Given the description of an element on the screen output the (x, y) to click on. 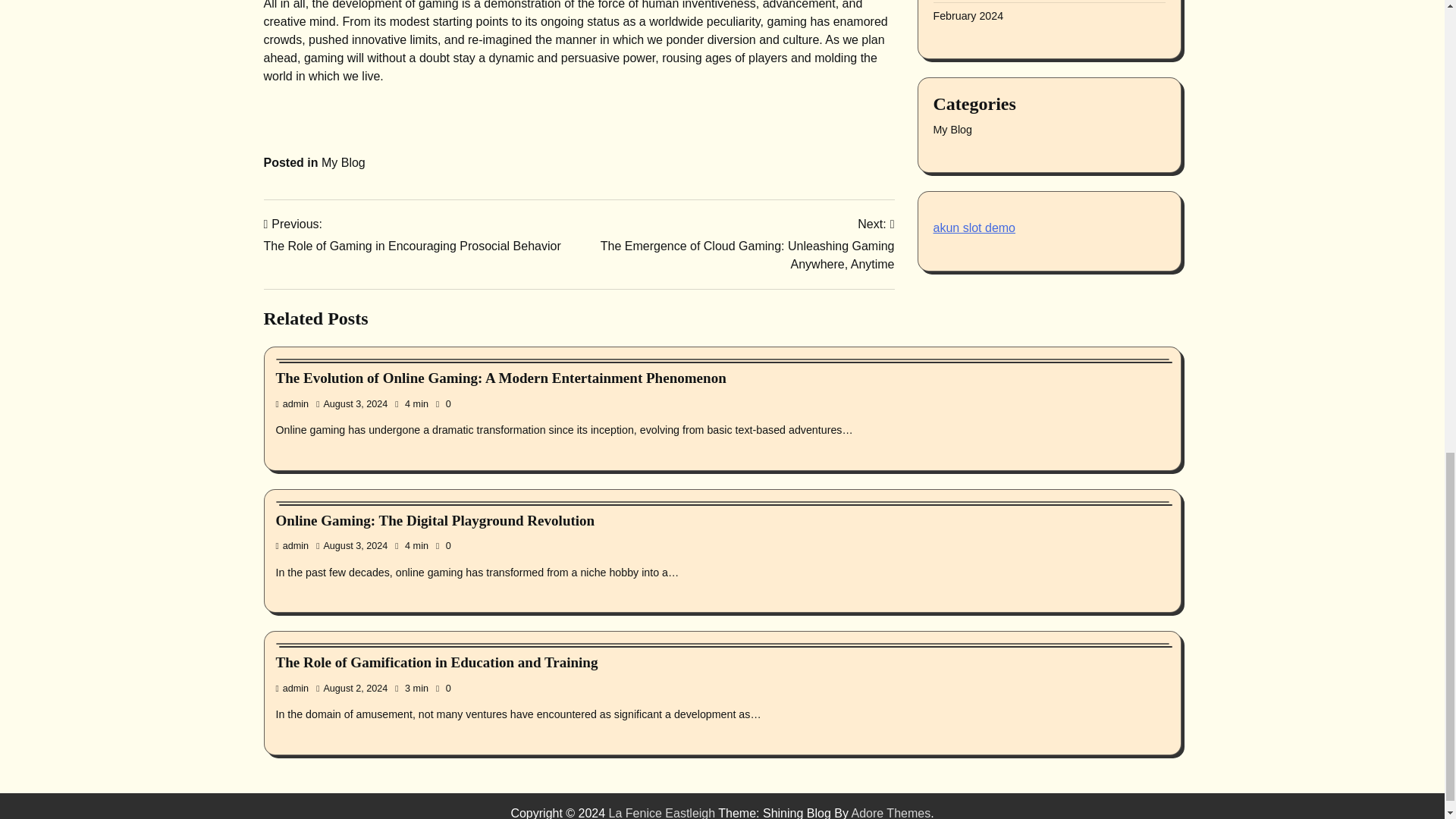
admin (292, 403)
My Blog (343, 162)
Online Gaming: The Digital Playground Revolution (435, 520)
admin (292, 545)
akun slot demo (973, 7)
